Given the description of an element on the screen output the (x, y) to click on. 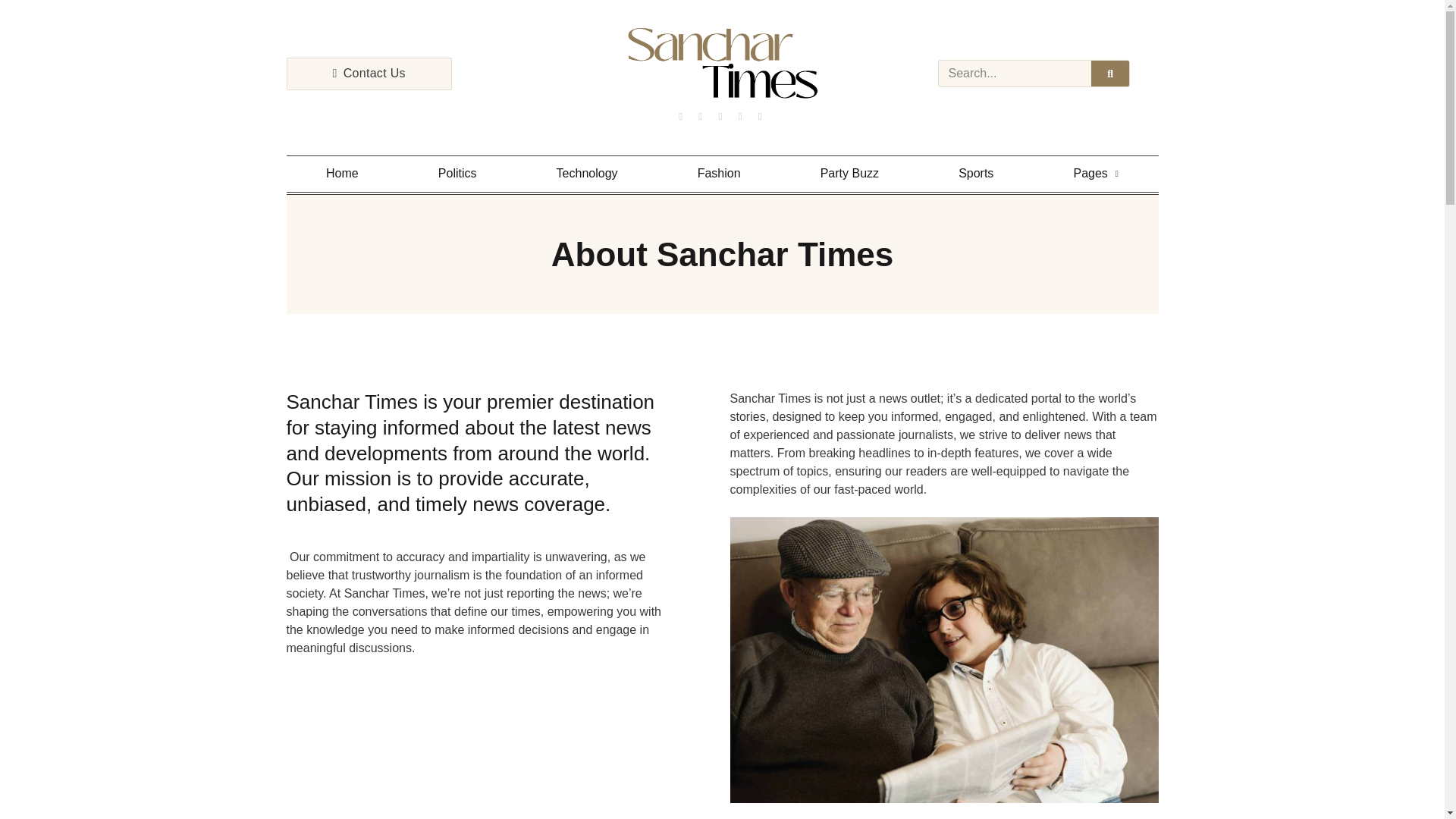
Search (1109, 73)
Home (342, 173)
Search (1014, 73)
Technology (587, 173)
Politics (456, 173)
Party Buzz (849, 173)
Pages (1095, 173)
Contact Us (368, 73)
Sports (975, 173)
Fashion (719, 173)
